Given the description of an element on the screen output the (x, y) to click on. 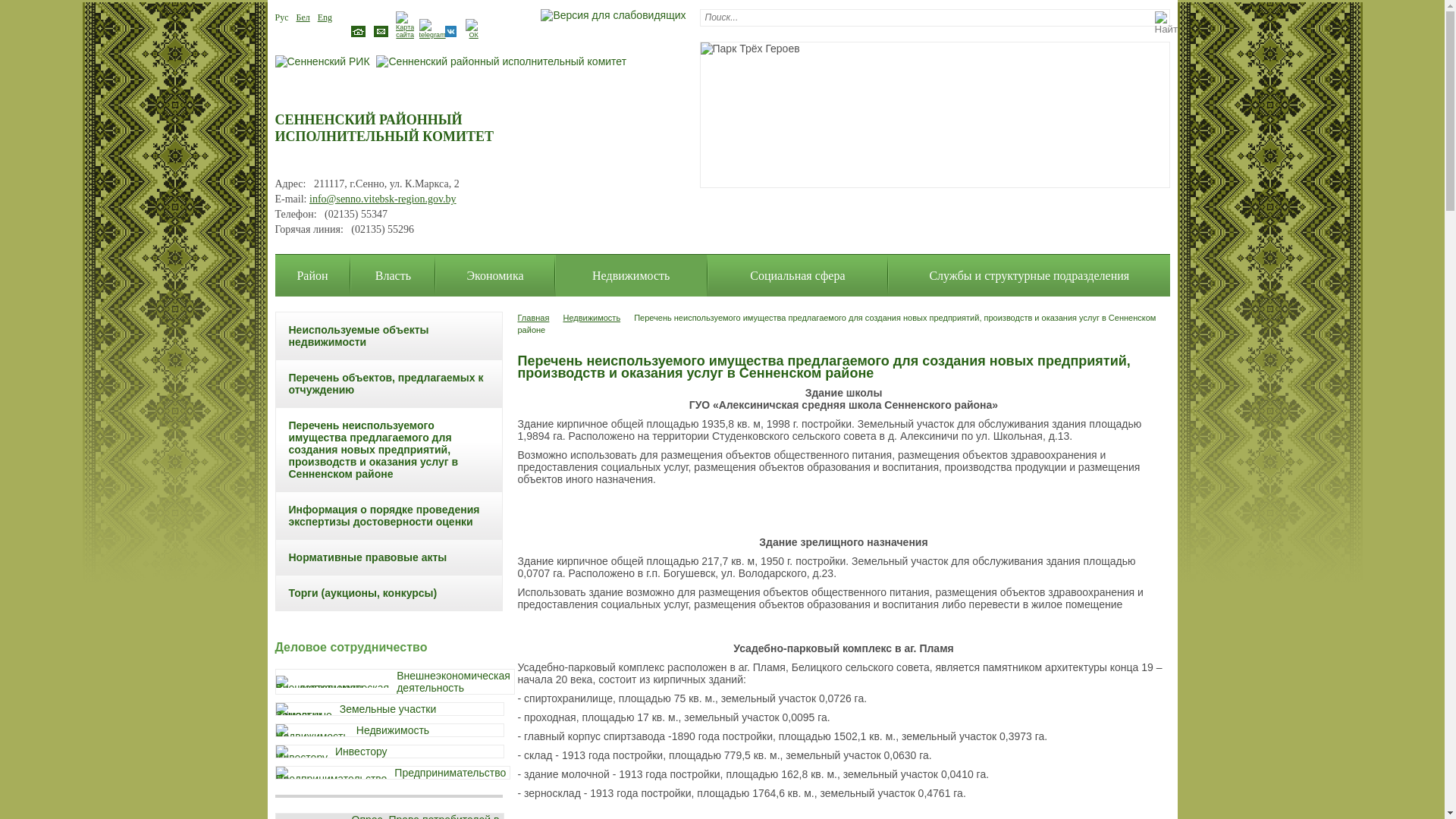
telegram Element type: hover (432, 28)
telegram Element type: hover (432, 34)
info@senno.vitebsk-region.gov.by Element type: text (382, 198)
Eng Element type: text (324, 17)
